Given the description of an element on the screen output the (x, y) to click on. 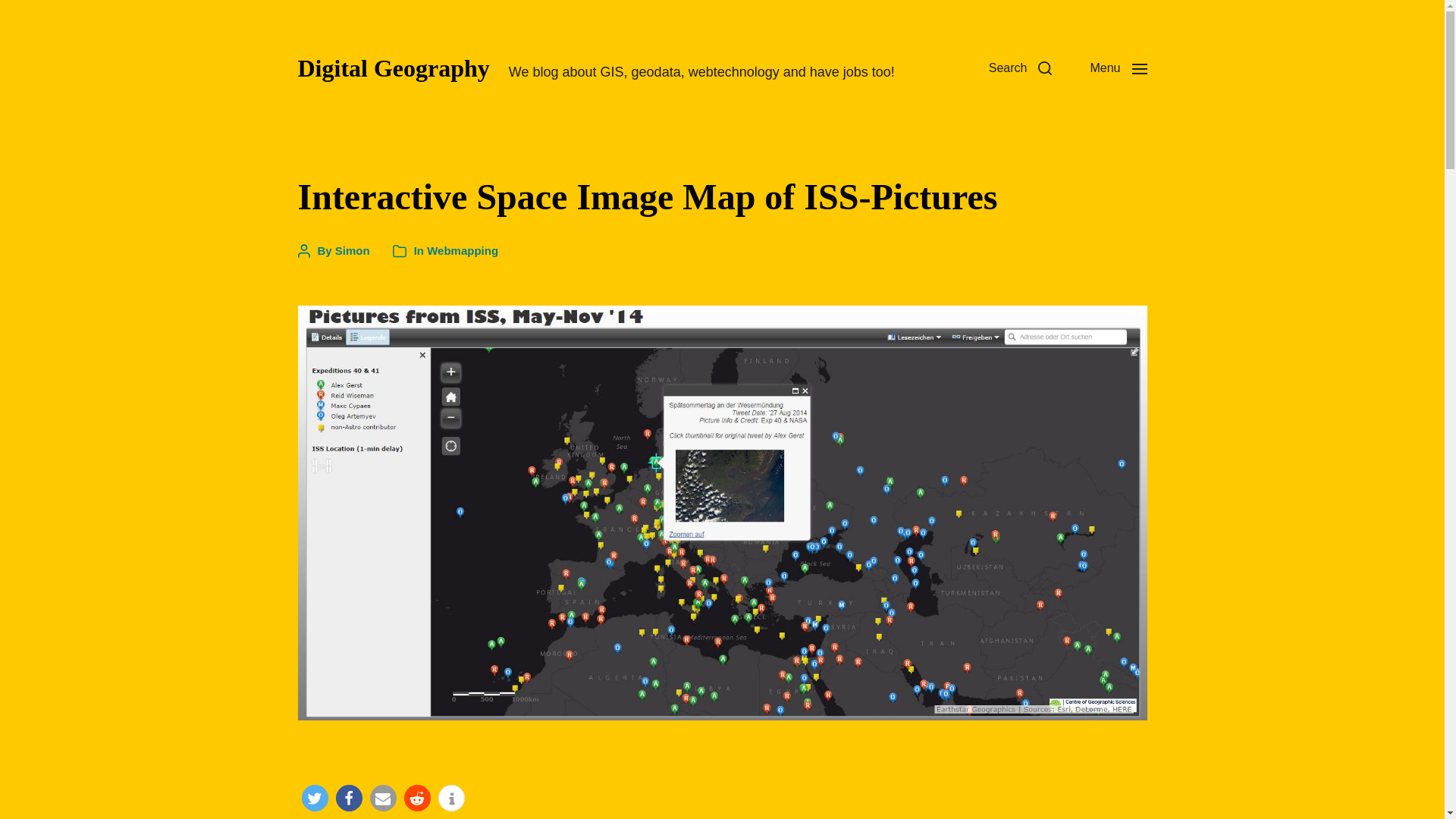
Share on Reddit (416, 797)
Share on Twitter (315, 797)
Webmapping (461, 250)
Menu (1118, 68)
Simon (351, 250)
Search (1020, 68)
Send by email (382, 797)
Share on Facebook (347, 797)
Digital Geography (393, 68)
More information (451, 797)
